Given the description of an element on the screen output the (x, y) to click on. 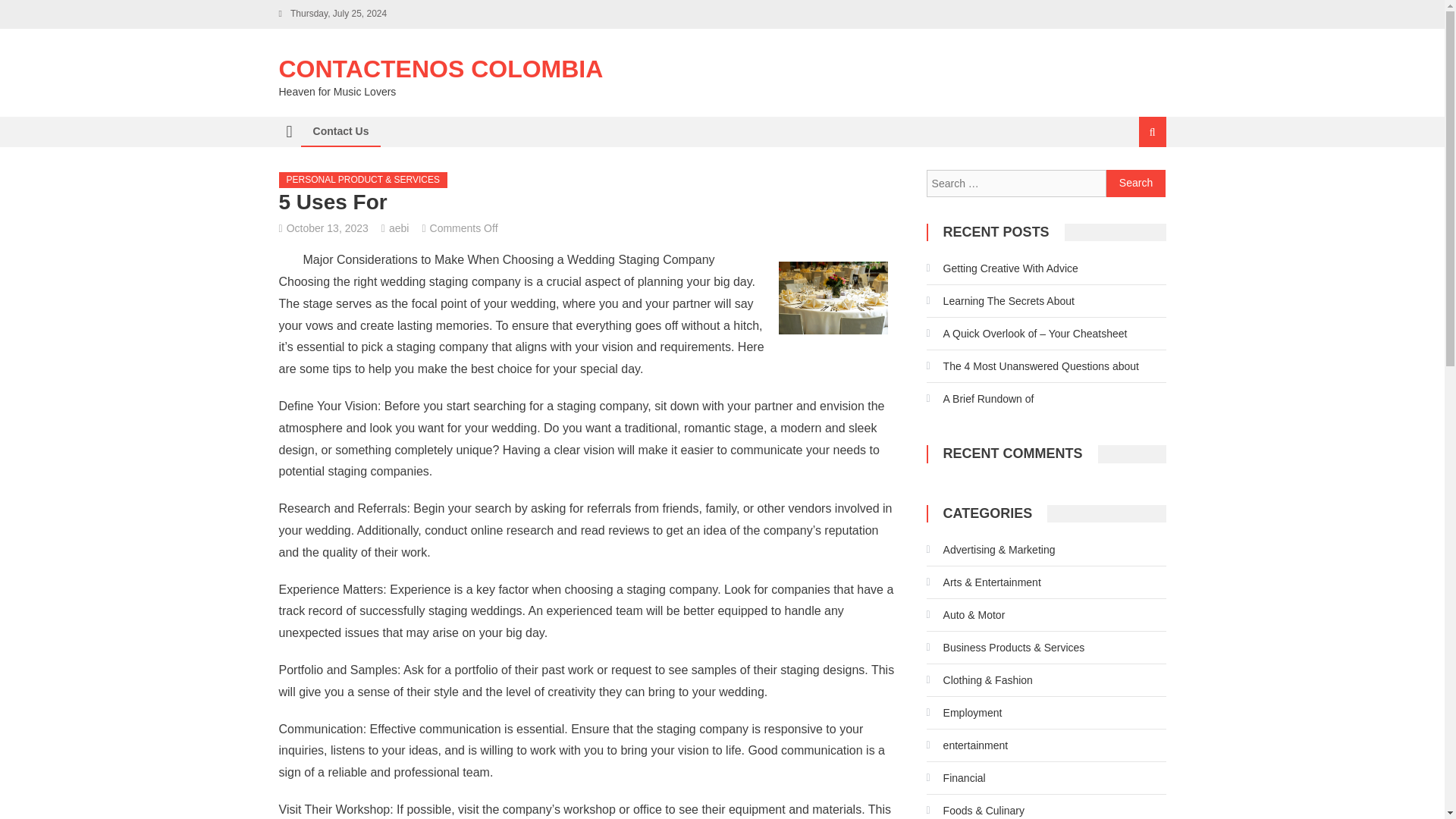
Contact Us (340, 131)
The 4 Most Unanswered Questions about (1032, 365)
Getting Creative With Advice (1002, 268)
October 13, 2023 (327, 227)
Search (1136, 183)
Search (1136, 183)
Search (1136, 183)
Search (1133, 182)
A Brief Rundown of (979, 398)
CONTACTENOS COLOMBIA (441, 68)
Learning The Secrets About (1000, 300)
aebi (398, 227)
